Given the description of an element on the screen output the (x, y) to click on. 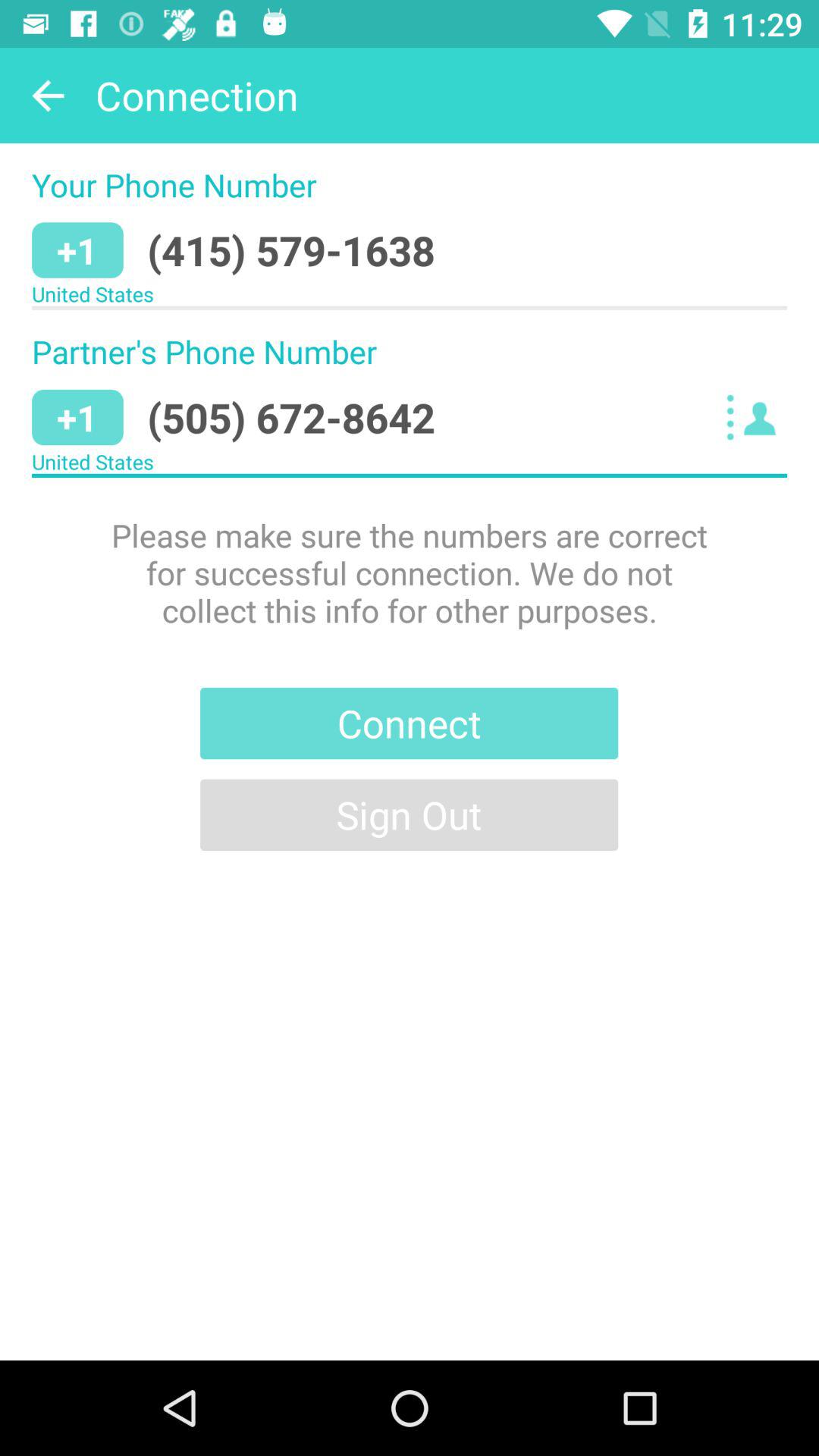
tap the item next to +1 item (291, 417)
